Given the description of an element on the screen output the (x, y) to click on. 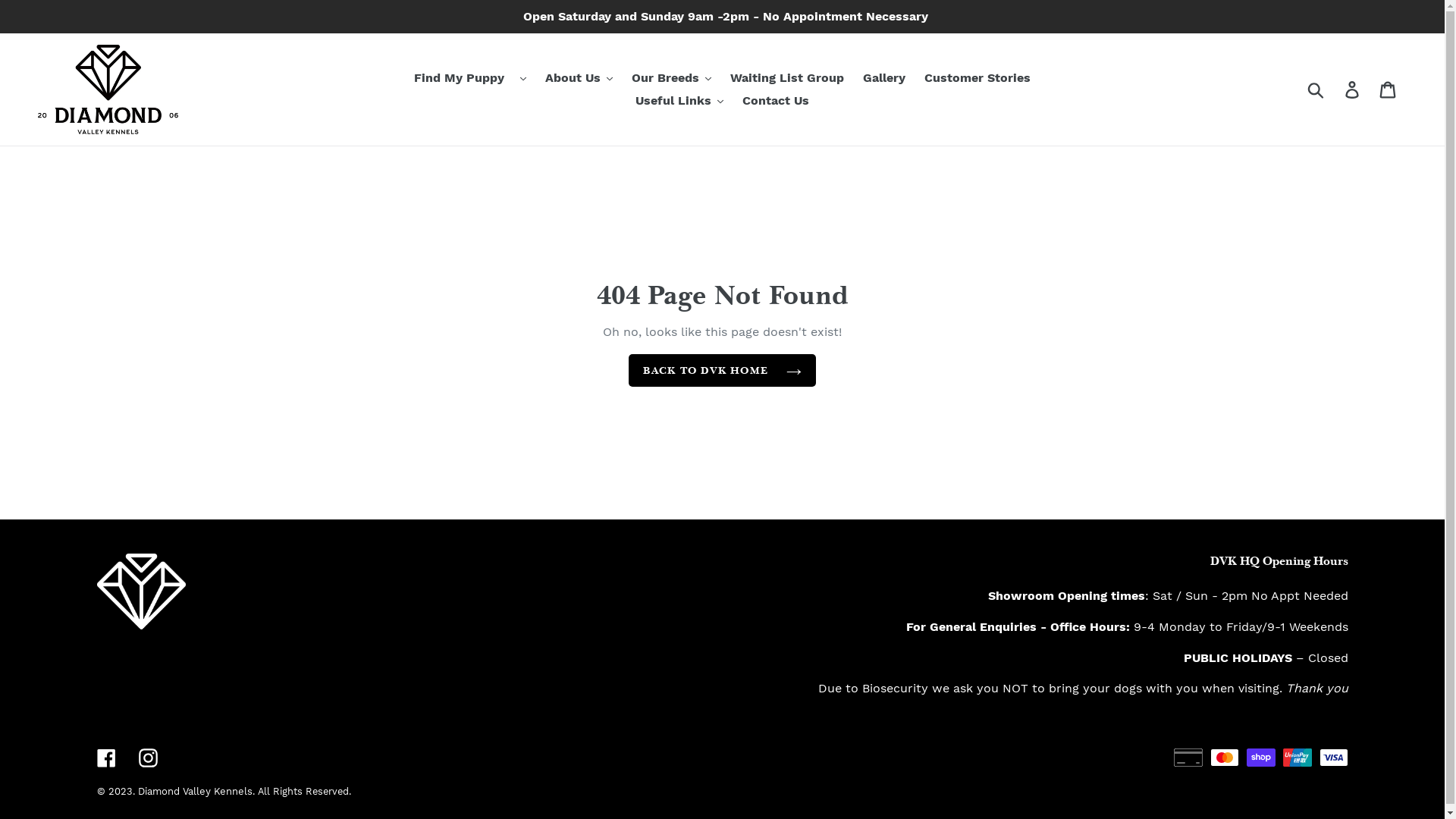
Contact Us Element type: text (775, 100)
Facebook Element type: text (106, 757)
Log in Element type: text (1353, 89)
Customer Stories Element type: text (977, 77)
Cart Element type: text (1388, 89)
Waiting List Group Element type: text (786, 77)
Instagram Element type: text (147, 757)
Gallery Element type: text (884, 77)
Submit Element type: text (1316, 89)
